Given the description of an element on the screen output the (x, y) to click on. 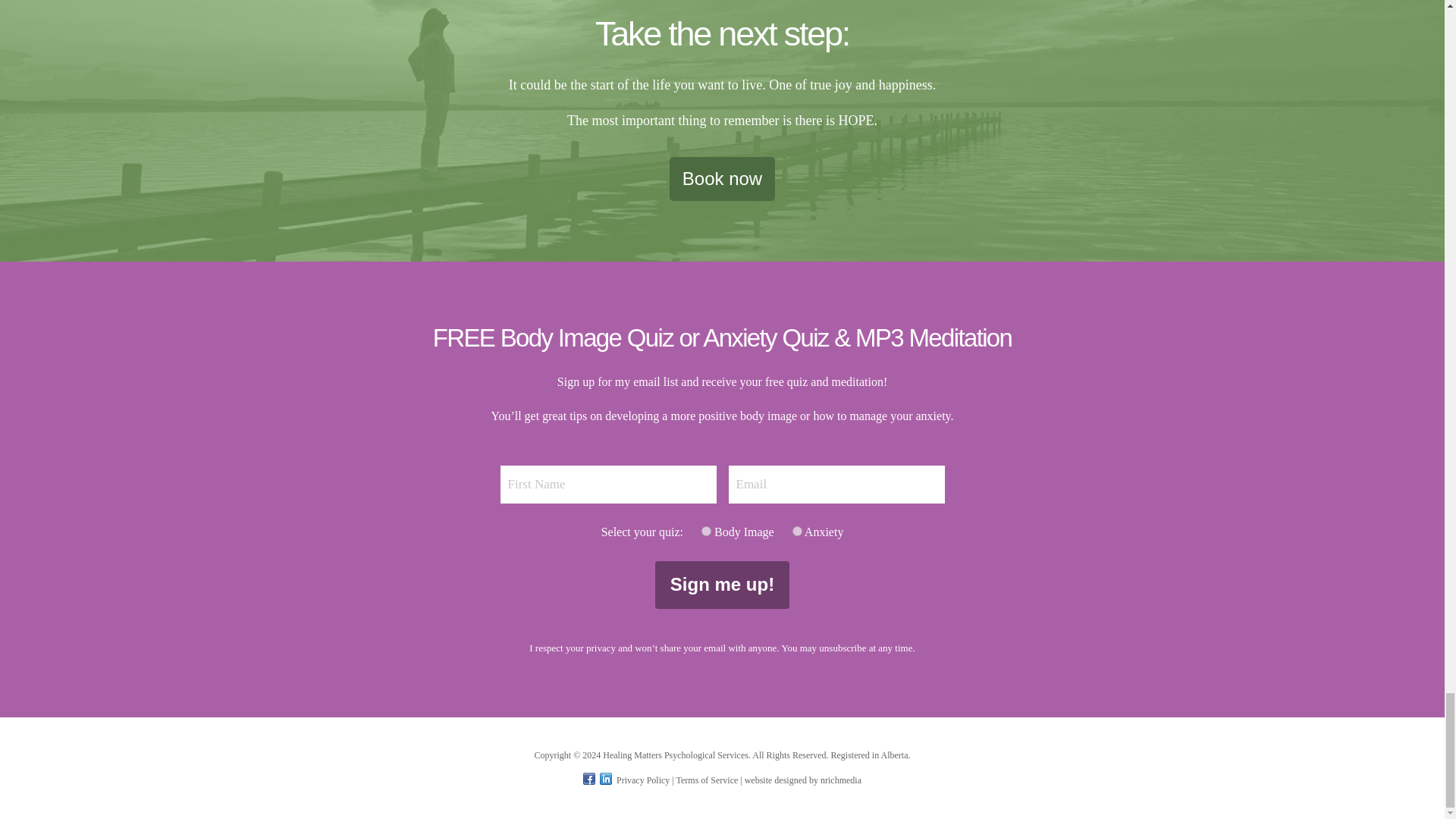
Book now (721, 178)
5ef7d28cbe (706, 531)
Sign me up! (722, 584)
5043b87a90 (797, 531)
website designed by nrichmedia (802, 780)
Privacy Policy (642, 780)
Terms of Service (707, 780)
Sign me up! (722, 584)
